Given the description of an element on the screen output the (x, y) to click on. 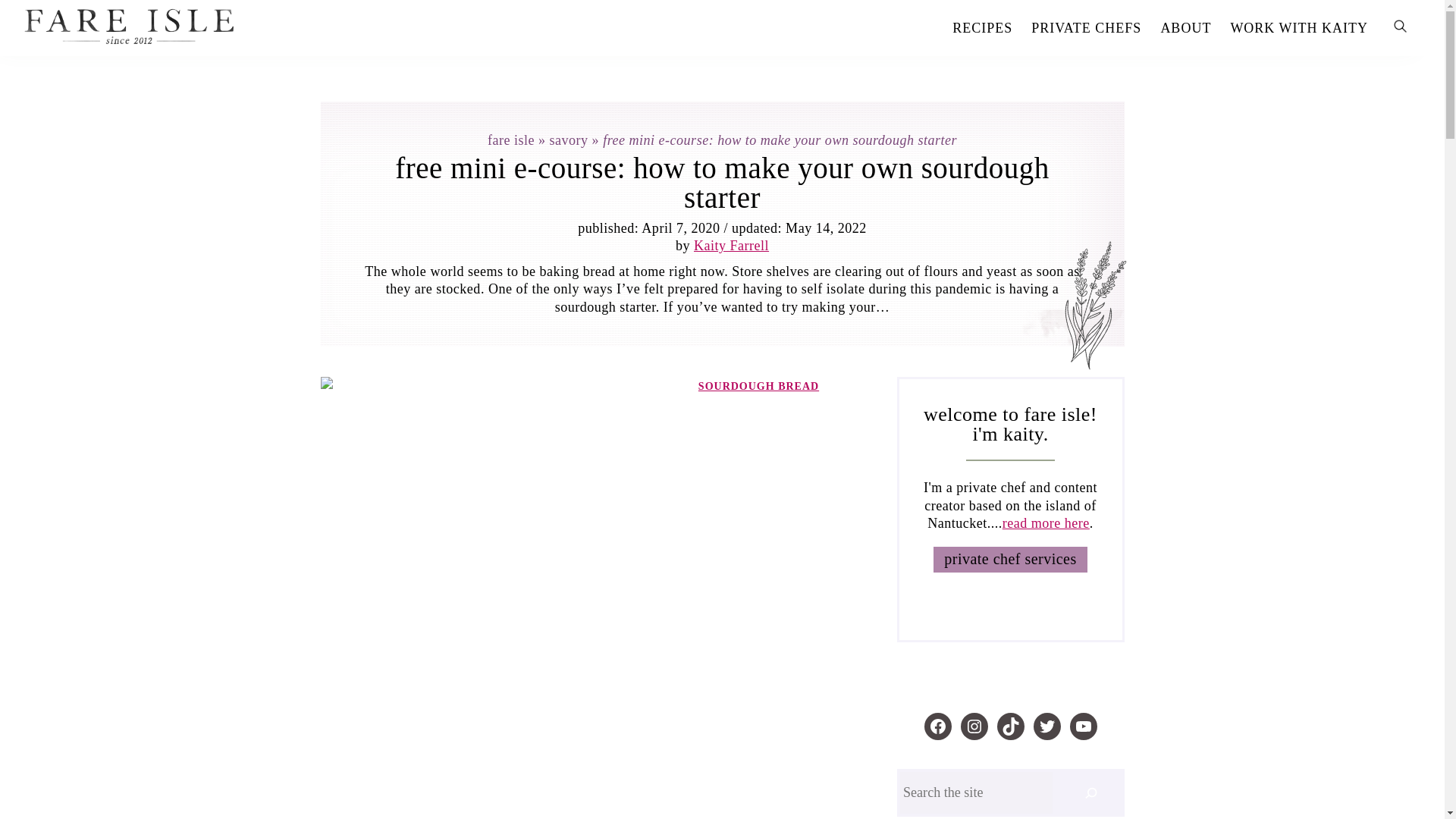
fare isle (510, 140)
ABOUT (1185, 28)
Kaity Farrell (731, 245)
RECIPES (981, 28)
Fare Isle (301, 26)
savory (569, 140)
WORK WITH KAITY (1299, 28)
read more here (1046, 522)
PRIVATE CHEFS (1085, 28)
